Given the description of an element on the screen output the (x, y) to click on. 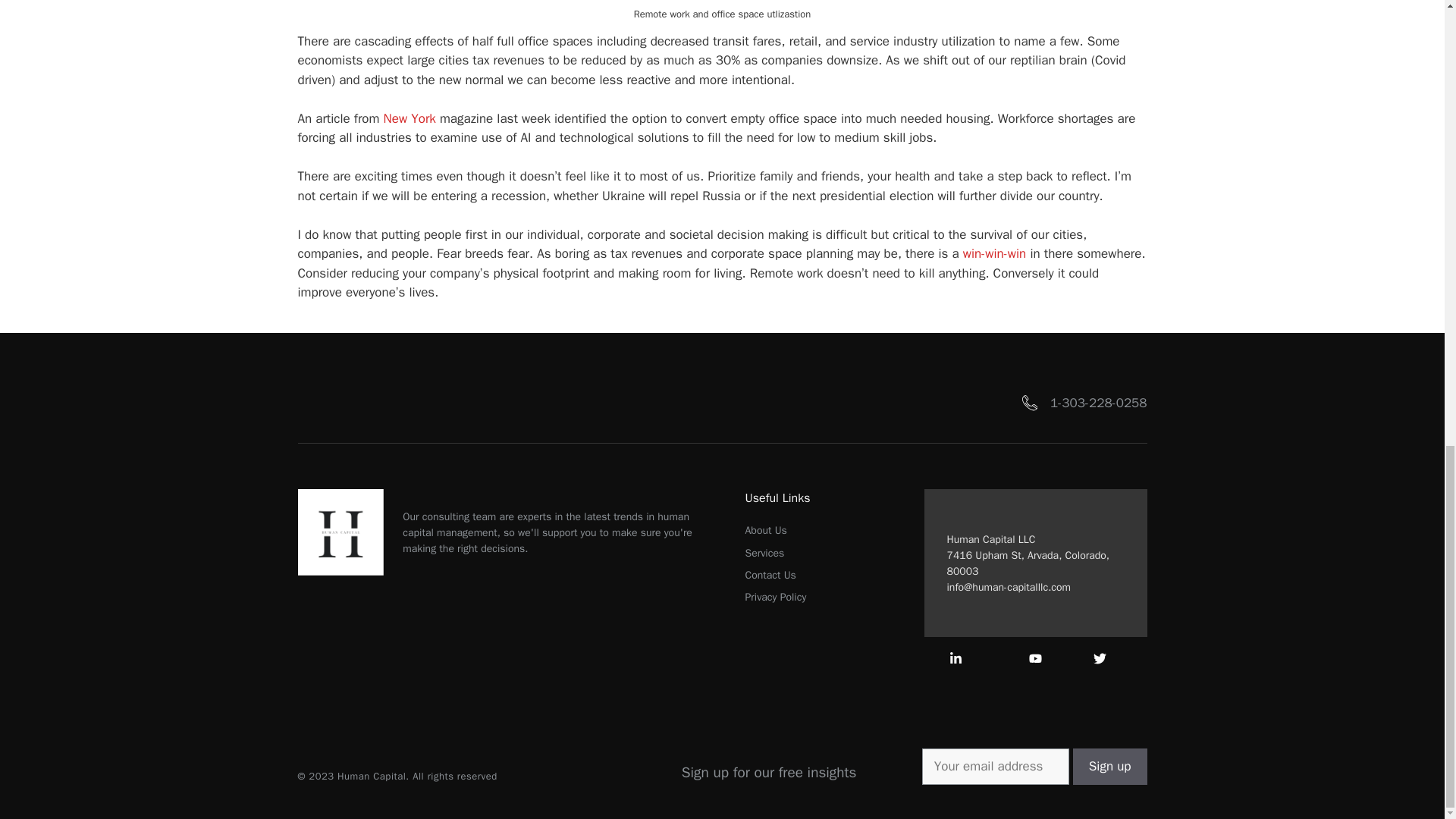
About Us (765, 530)
win-win-win (994, 253)
Sign up (1110, 766)
1-303-228-0258 (1098, 402)
Sign up (1110, 766)
Services (764, 553)
New York (409, 118)
Contact Us (769, 575)
Privacy Policy (775, 596)
